Given the description of an element on the screen output the (x, y) to click on. 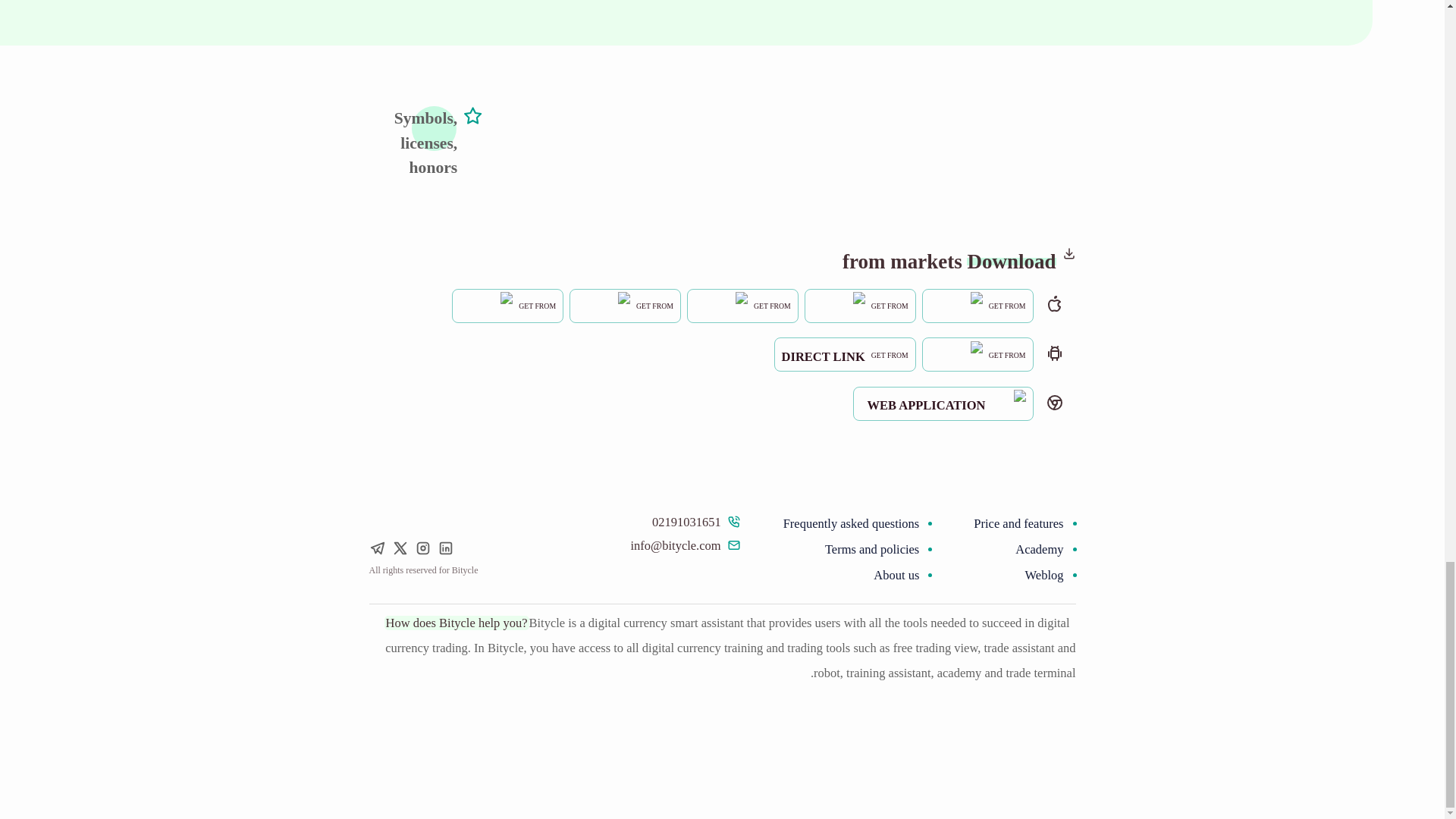
GET FROM (742, 303)
GET FROM (860, 305)
02191031651 (696, 521)
Academy (1018, 549)
Terms and policies (851, 549)
GET FROM (860, 303)
About us (851, 575)
GET FROM (742, 305)
GET FROM (977, 353)
